Given the description of an element on the screen output the (x, y) to click on. 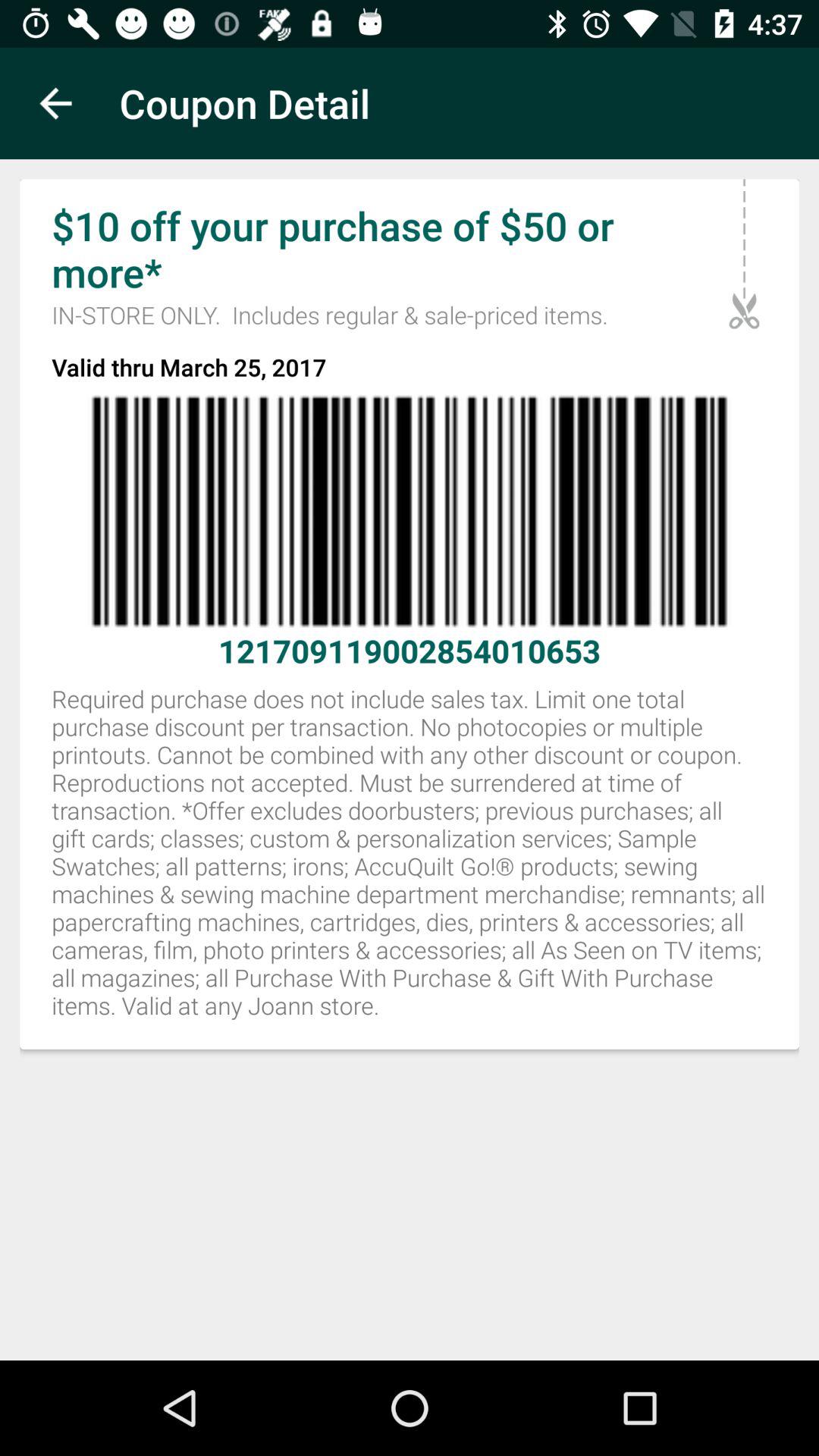
scroll to the required purchase does icon (409, 860)
